Given the description of an element on the screen output the (x, y) to click on. 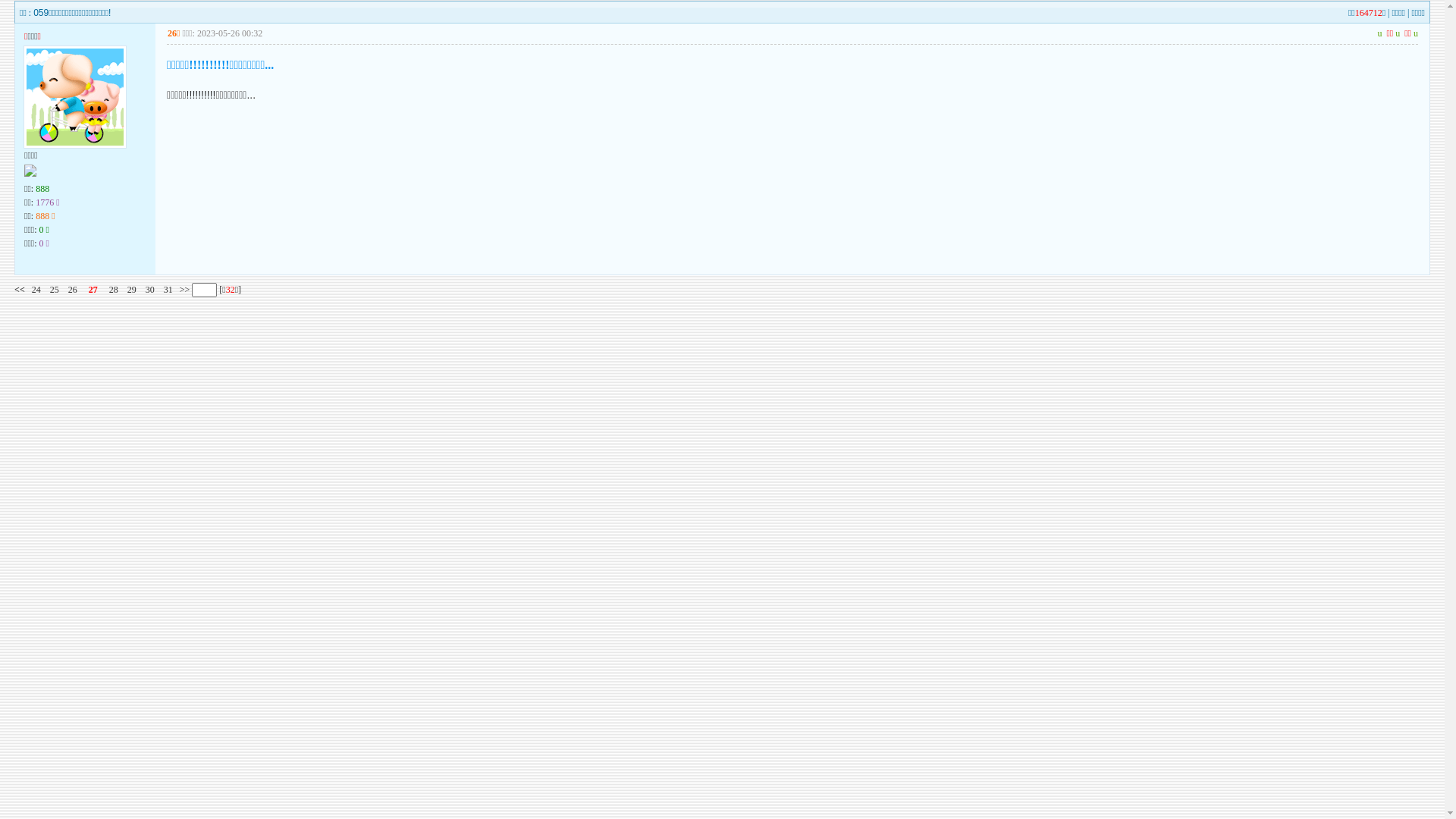
24 Element type: text (35, 289)
31 Element type: text (167, 289)
26 Element type: text (72, 289)
29 Element type: text (131, 289)
30 Element type: text (149, 289)
28 Element type: text (113, 289)
<< Element type: text (19, 289)
>> Element type: text (183, 289)
25 Element type: text (54, 289)
